Given the description of an element on the screen output the (x, y) to click on. 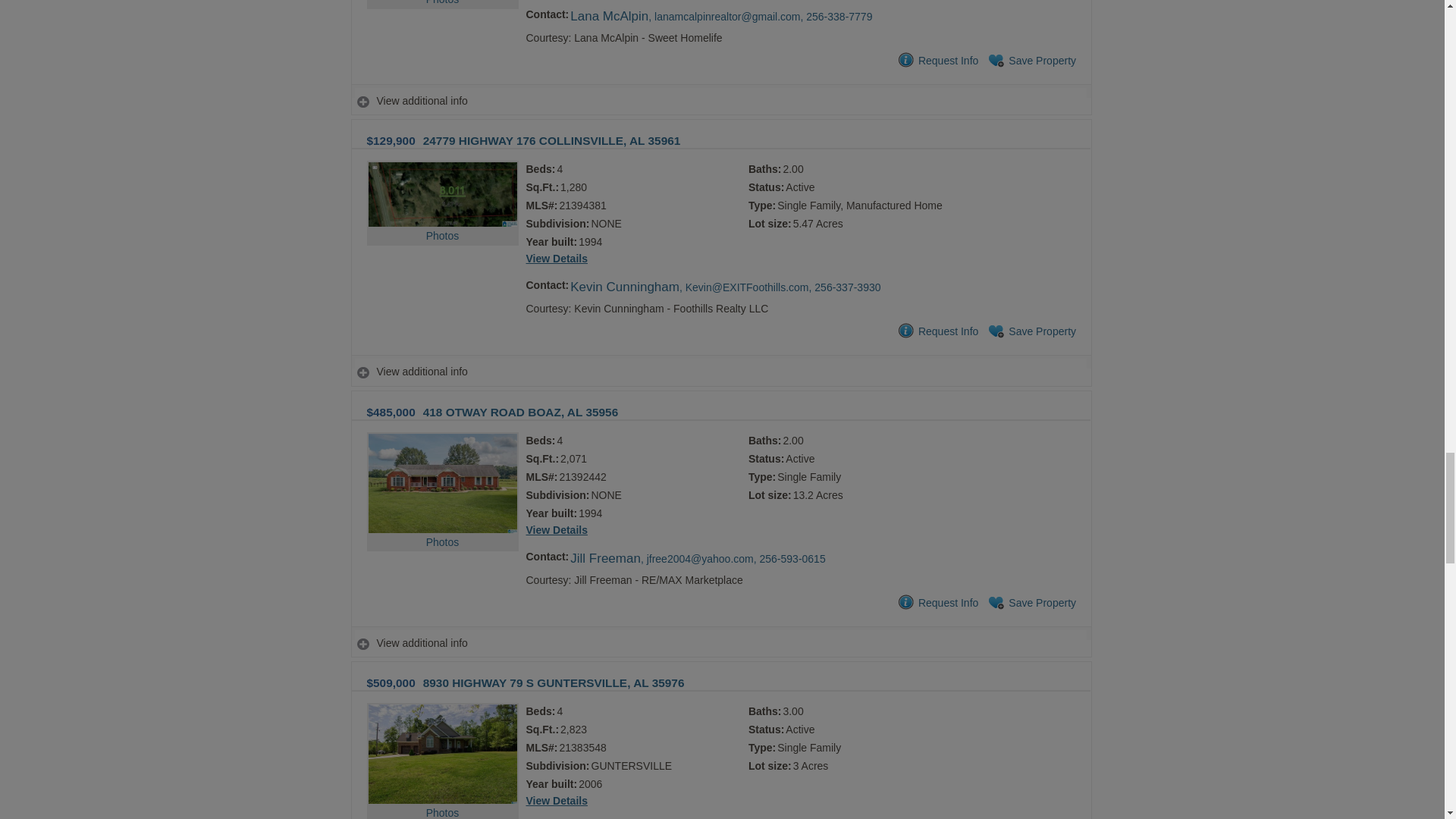
View property remarks and map (720, 101)
View property remarks and map (720, 371)
View property remarks and map (720, 643)
